Given the description of an element on the screen output the (x, y) to click on. 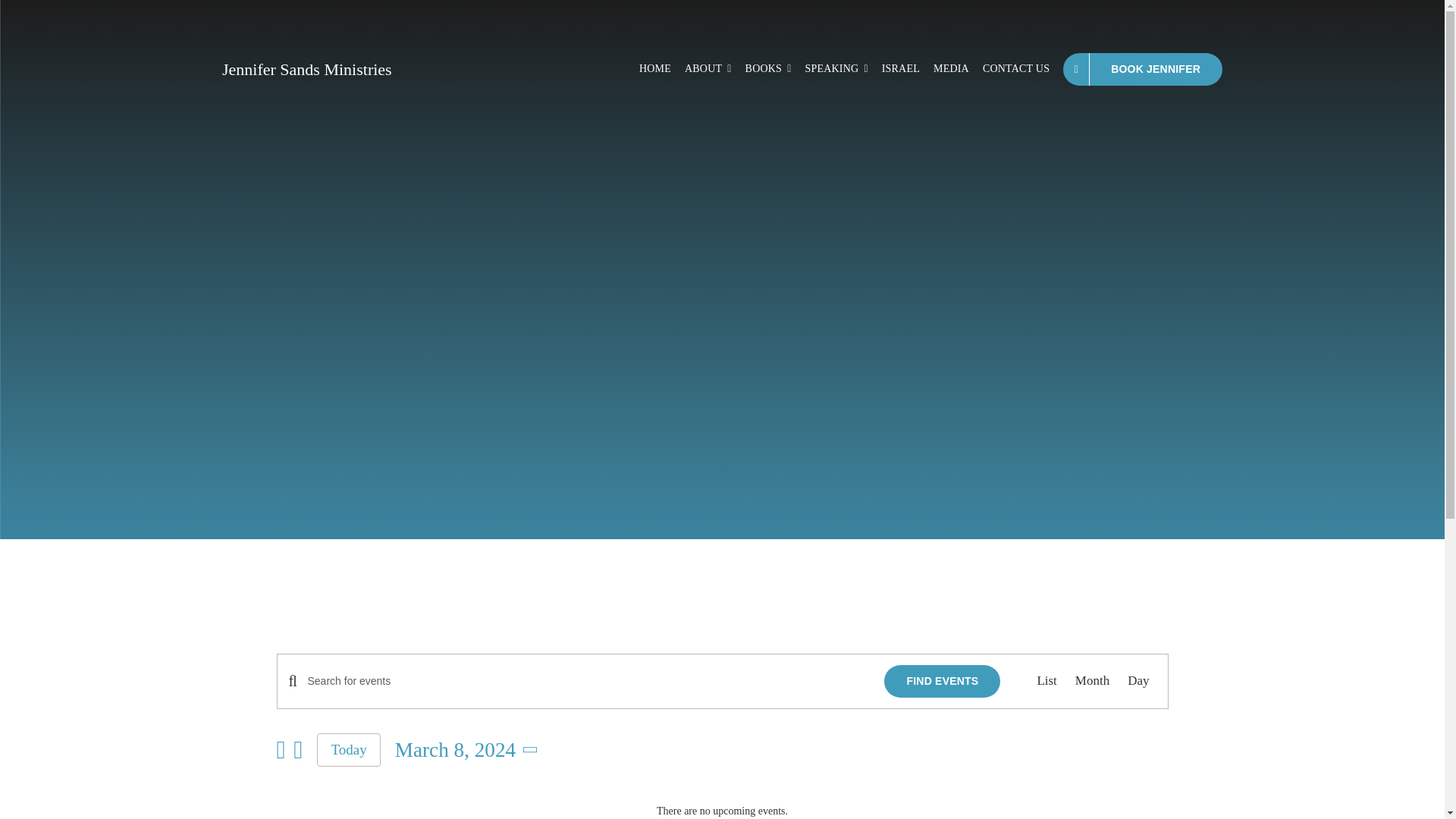
Today (348, 749)
Click to toggle datepicker (468, 749)
ABOUT (708, 69)
MEDIA (951, 69)
BOOK JENNIFER (1142, 69)
HOME (655, 69)
FIND EVENTS (941, 681)
CONTACT US (1015, 69)
SPEAKING (836, 69)
March 8, 2024 (468, 749)
ISRAEL (901, 69)
BOOKS (768, 69)
Click to select today's date (348, 749)
